Given the description of an element on the screen output the (x, y) to click on. 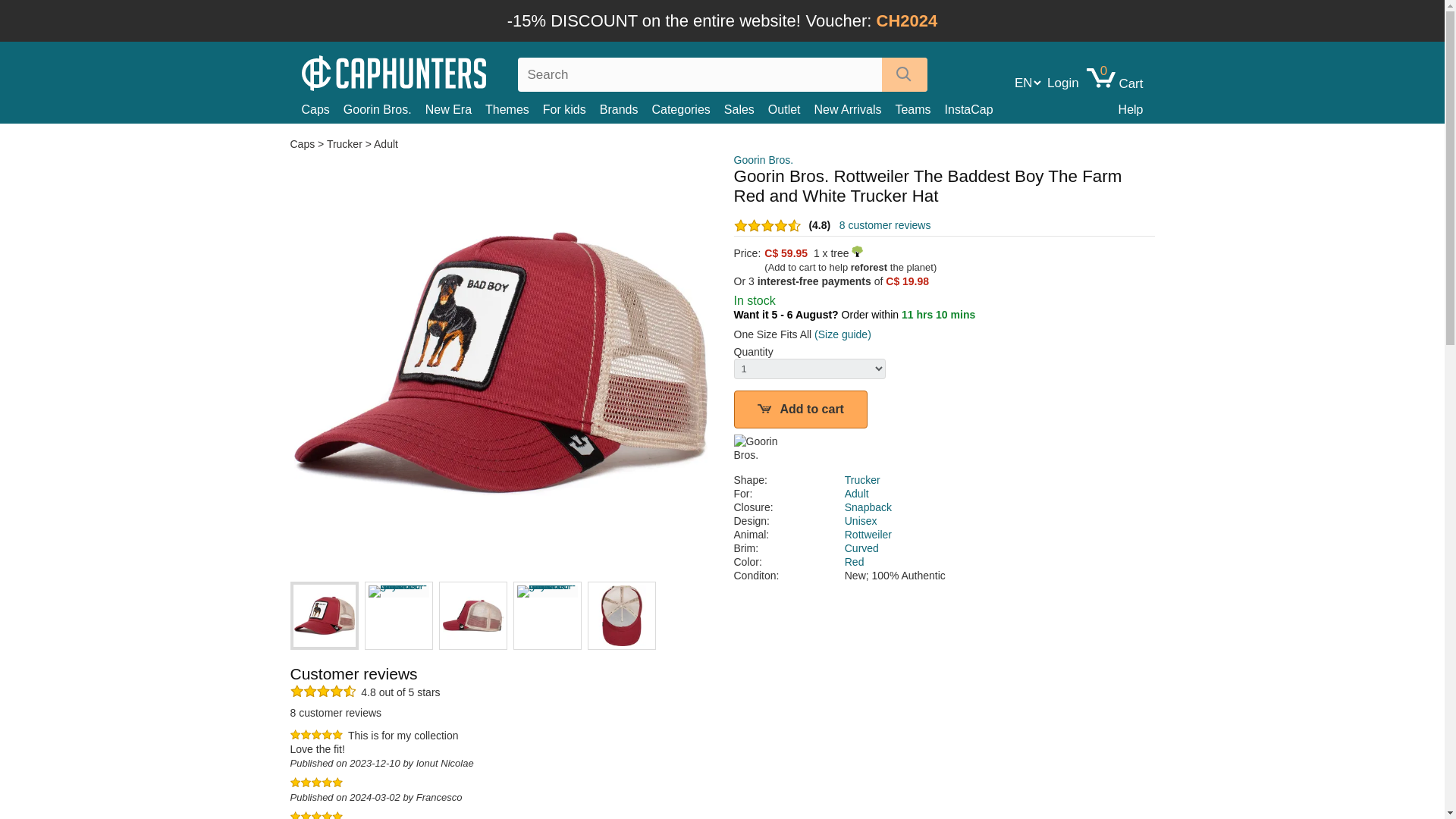
snapback (867, 507)
Caps (322, 109)
Caphunters (398, 71)
Themes (513, 109)
Categories (686, 109)
Brands (625, 109)
New Era (454, 109)
Goorin Bros. (763, 159)
